Given the description of an element on the screen output the (x, y) to click on. 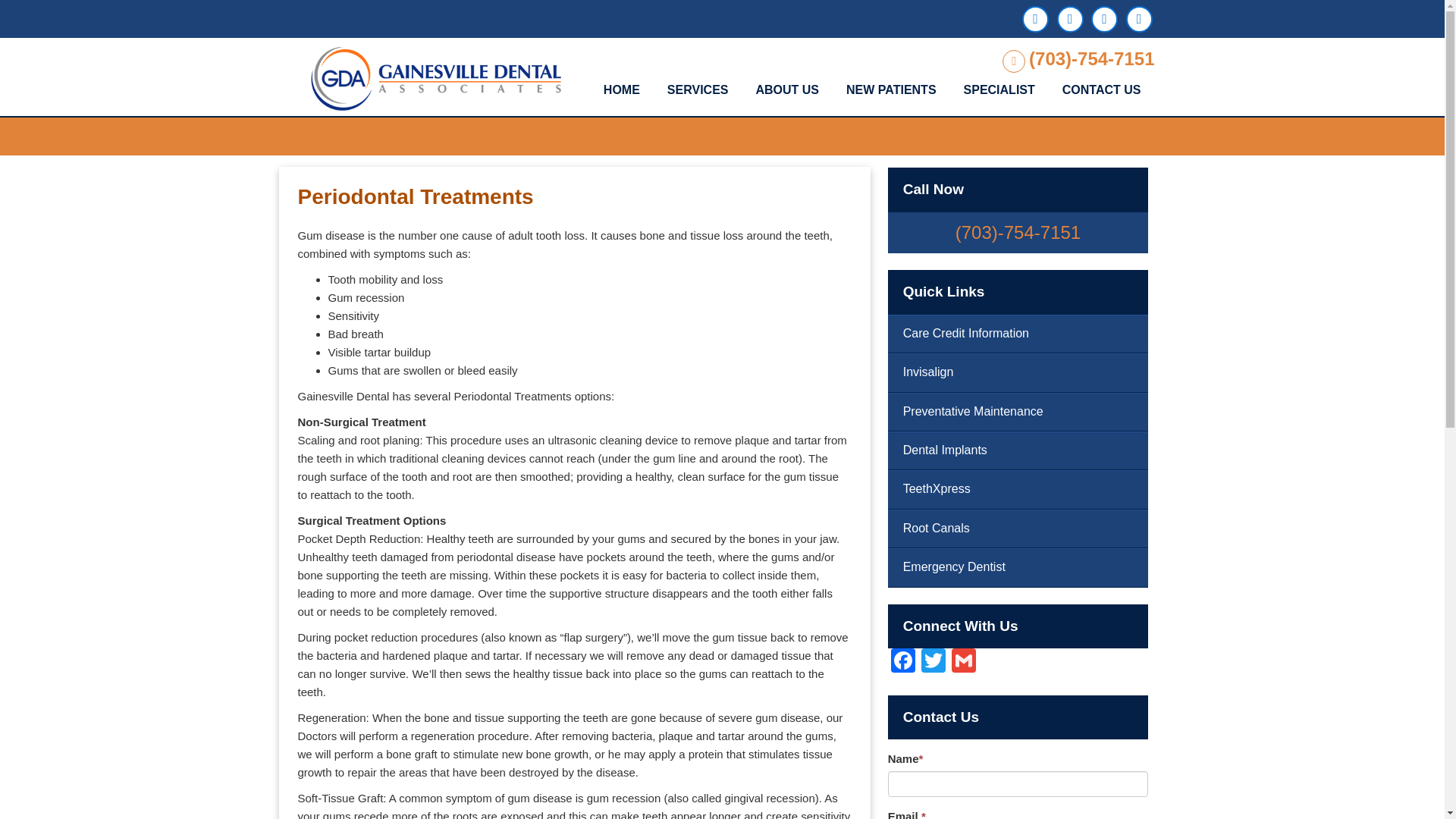
Gmail (963, 662)
Twitter (933, 662)
SPECIALIST (999, 90)
HOME (621, 90)
SERVICES (697, 90)
NEW PATIENTS (890, 90)
ABOUT US (786, 90)
Facebook (903, 662)
